Given the description of an element on the screen output the (x, y) to click on. 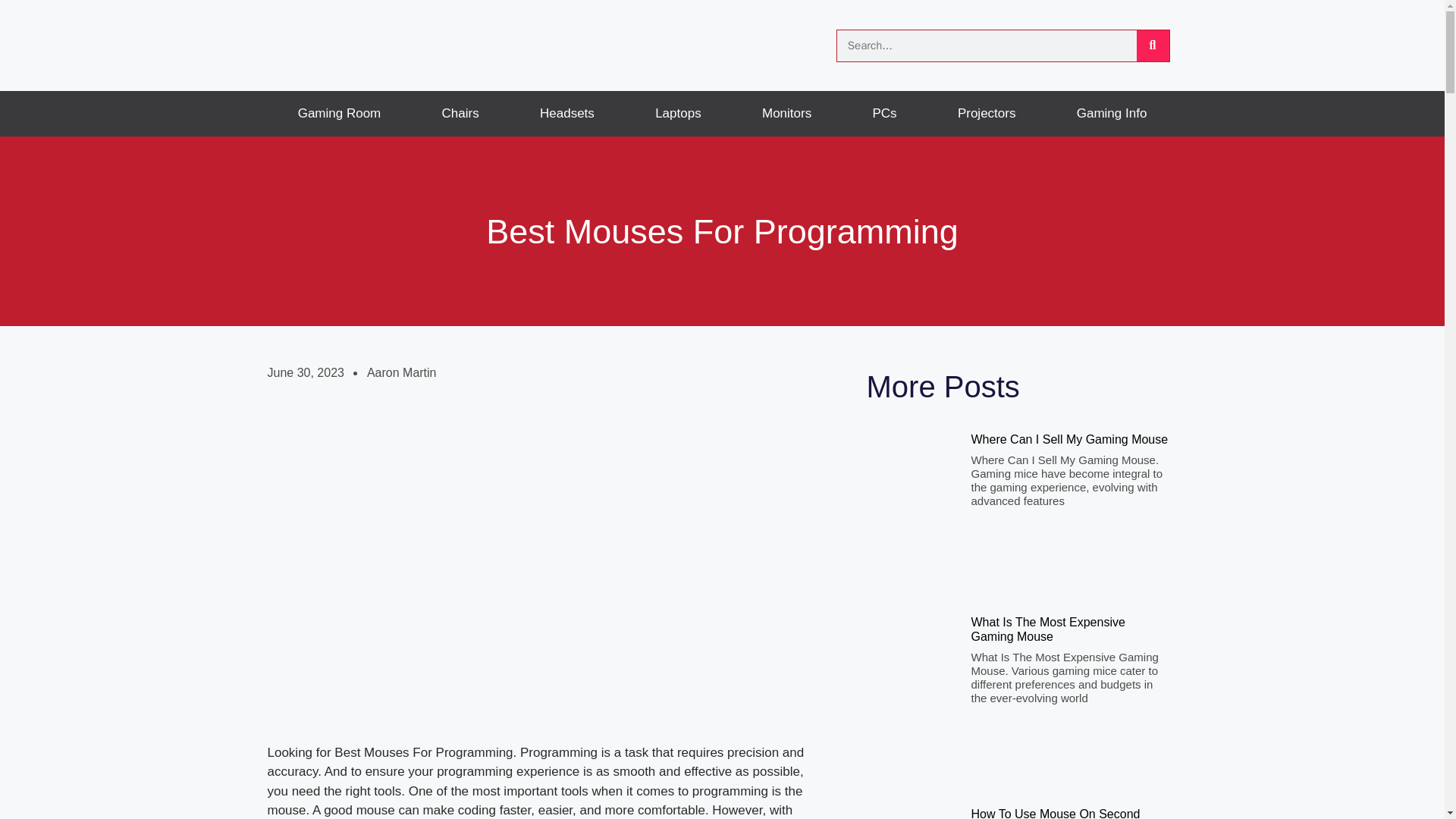
Gaming Room (338, 113)
Where Can I Sell My Gaming Mouse (1069, 439)
How To Use Mouse On Second Monitor While Gaming (1055, 813)
Headsets (566, 113)
What Is The Most Expensive Gaming Mouse (1047, 628)
Monitors (787, 113)
Aaron Martin (401, 372)
Laptops (678, 113)
Gaming Info (1111, 113)
PCs (883, 113)
June 30, 2023 (304, 372)
Projectors (986, 113)
Chairs (459, 113)
